Given the description of an element on the screen output the (x, y) to click on. 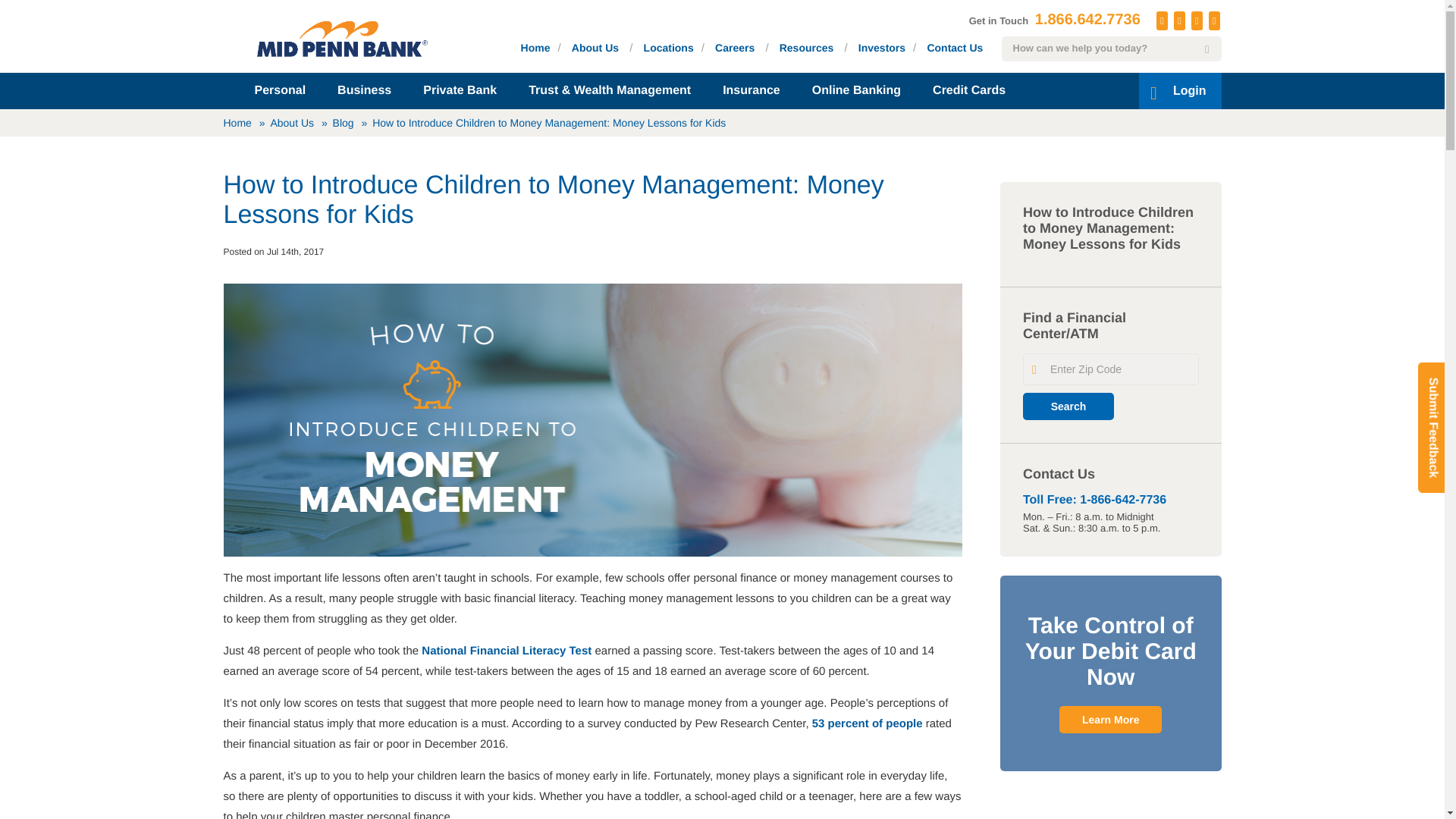
About Us (595, 47)
Careers (734, 47)
Locations (668, 47)
1.866.642.7736 (1087, 19)
Investors (882, 47)
Contact Us (954, 47)
Resources (806, 47)
